Given the description of an element on the screen output the (x, y) to click on. 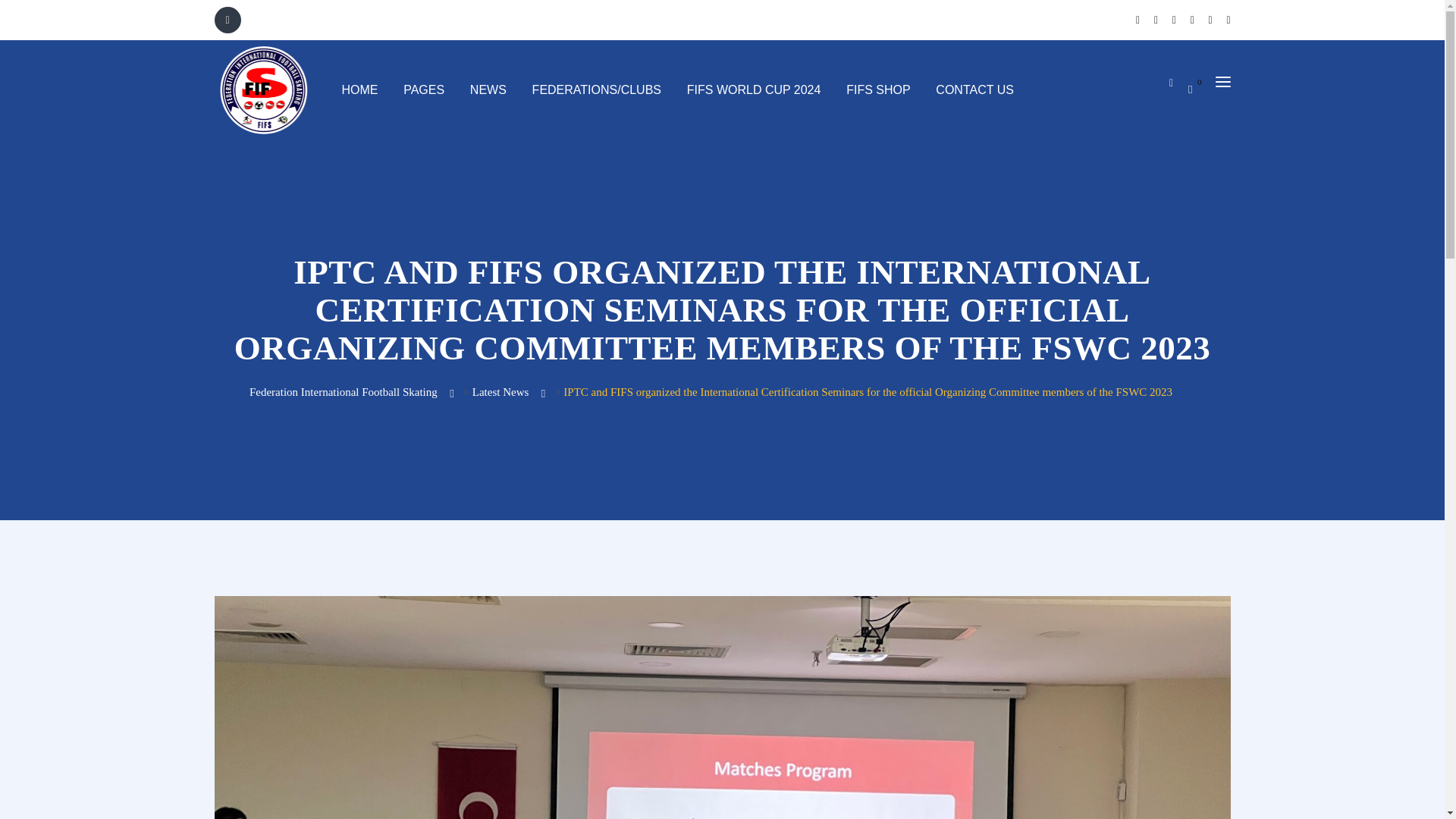
FIFS WORLD CUP 2024 (753, 89)
HOME (359, 89)
PAGES (423, 89)
Go to Federation International Football Skating. (343, 391)
Go to the Latest News Category archives. (500, 391)
NEWS (488, 89)
